Given the description of an element on the screen output the (x, y) to click on. 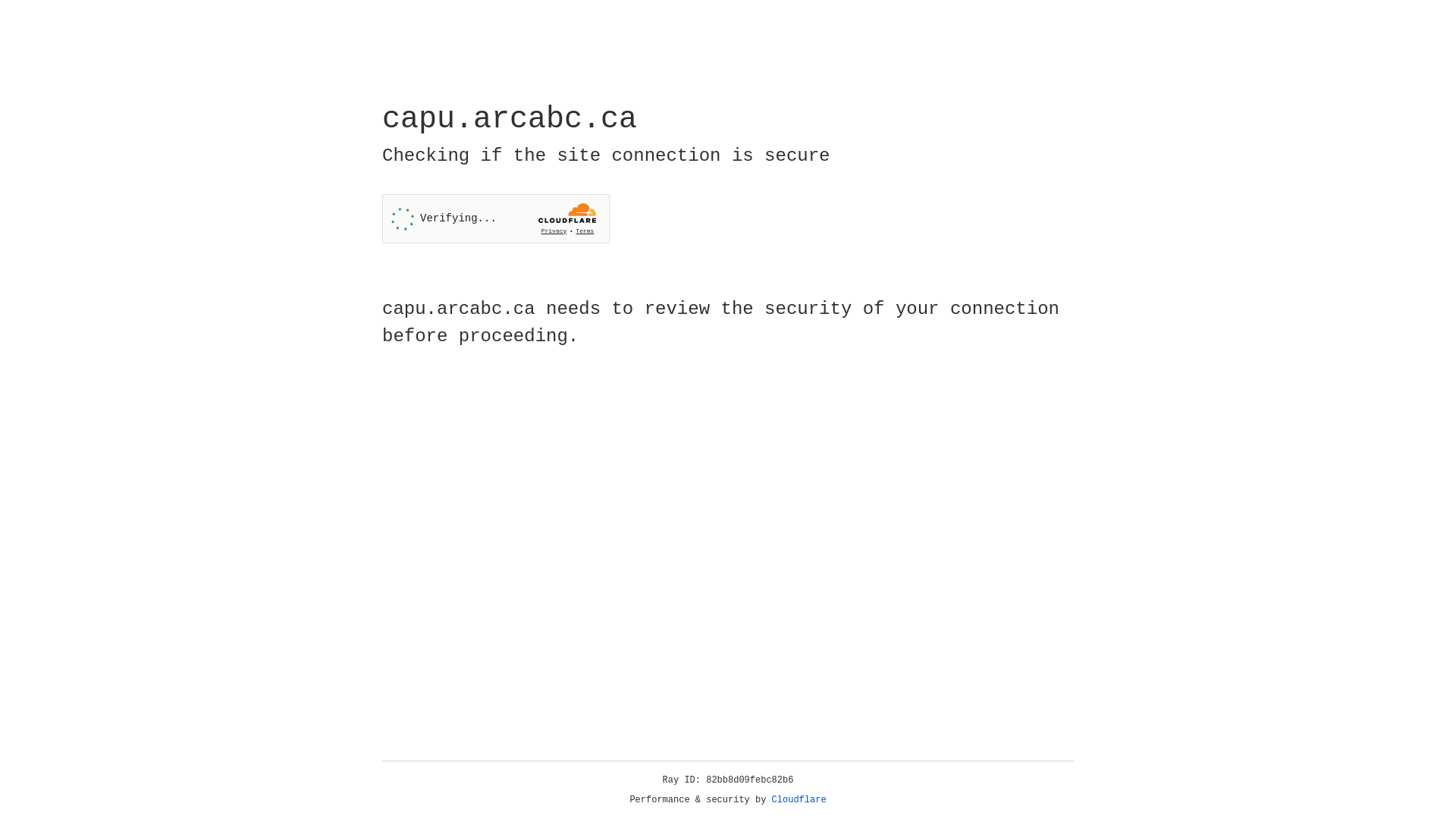
Widget containing a Cloudflare security challenge Element type: hover (495, 218)
Cloudflare Element type: text (798, 799)
